Given the description of an element on the screen output the (x, y) to click on. 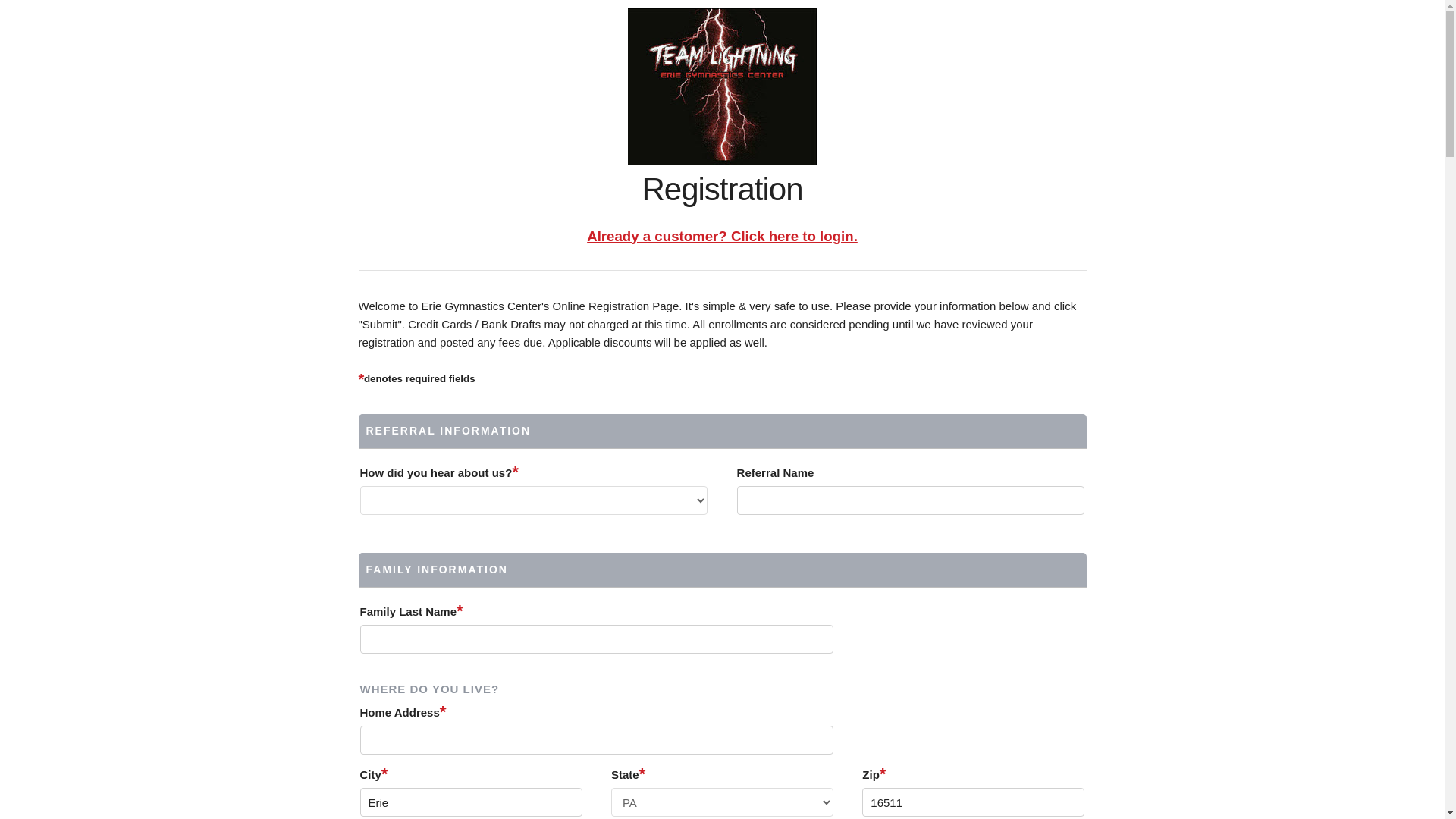
16511 (972, 801)
Erie (469, 801)
Already a customer? Click here to login. (721, 235)
